Given the description of an element on the screen output the (x, y) to click on. 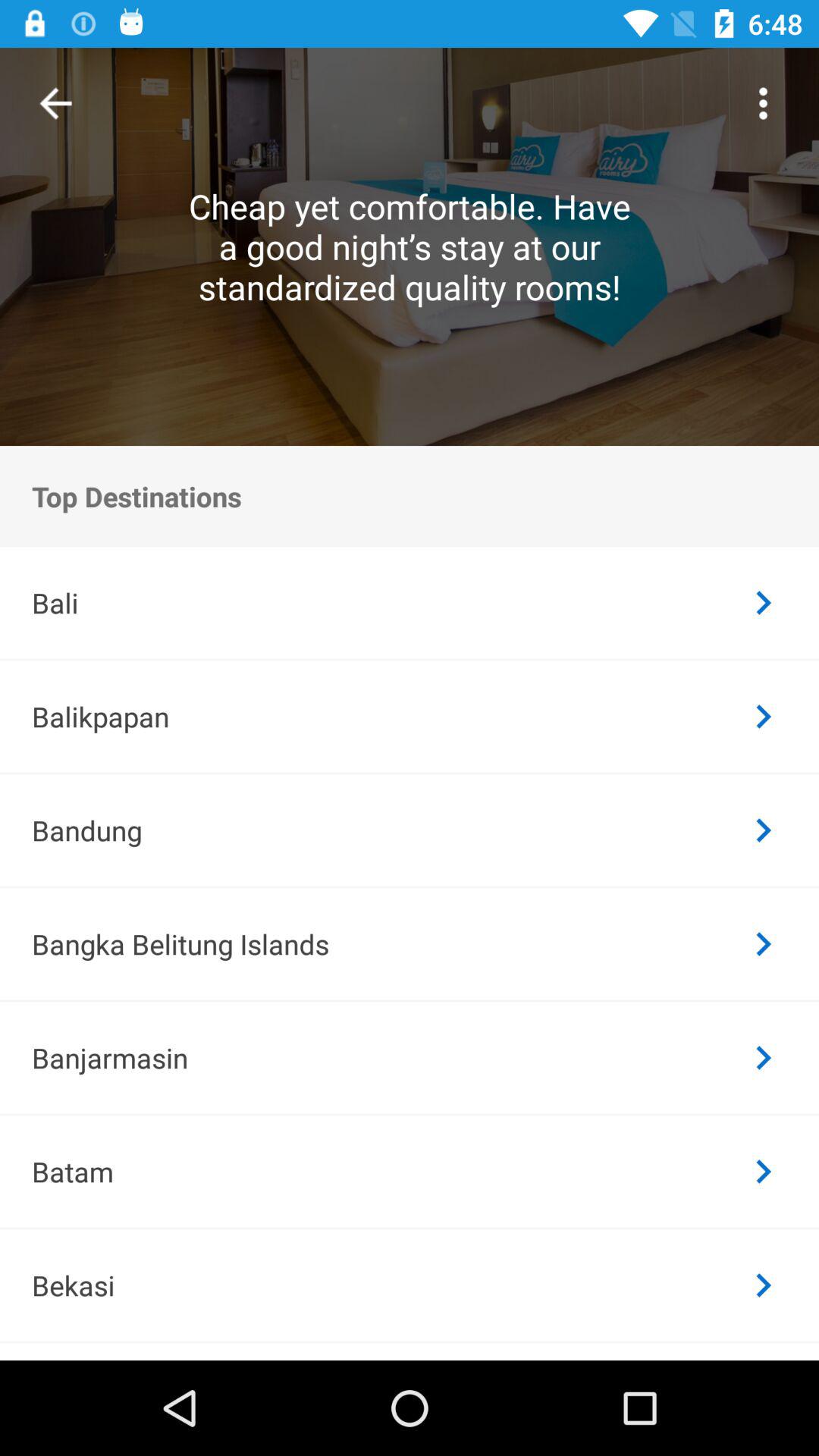
launch item above the top destinations icon (763, 103)
